Given the description of an element on the screen output the (x, y) to click on. 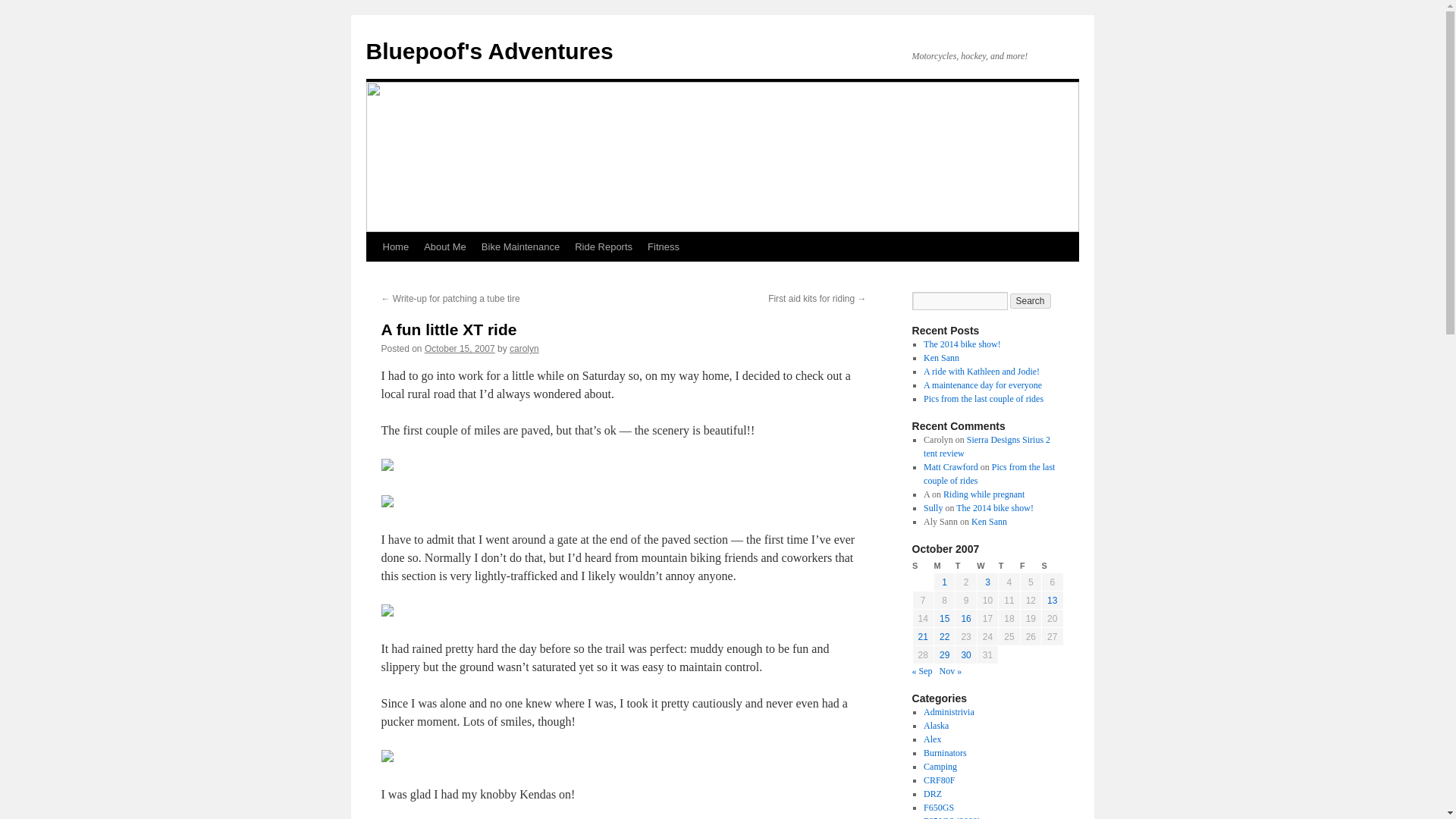
Riding while pregnant (984, 493)
Bluepoof's Adventures (488, 50)
Ken Sann (941, 357)
Fitness (663, 246)
carolyn (523, 348)
About Me (445, 246)
A maintenance day for everyone (982, 385)
Ken Sann (989, 521)
Home (395, 246)
Bike Maintenance (520, 246)
